Given the description of an element on the screen output the (x, y) to click on. 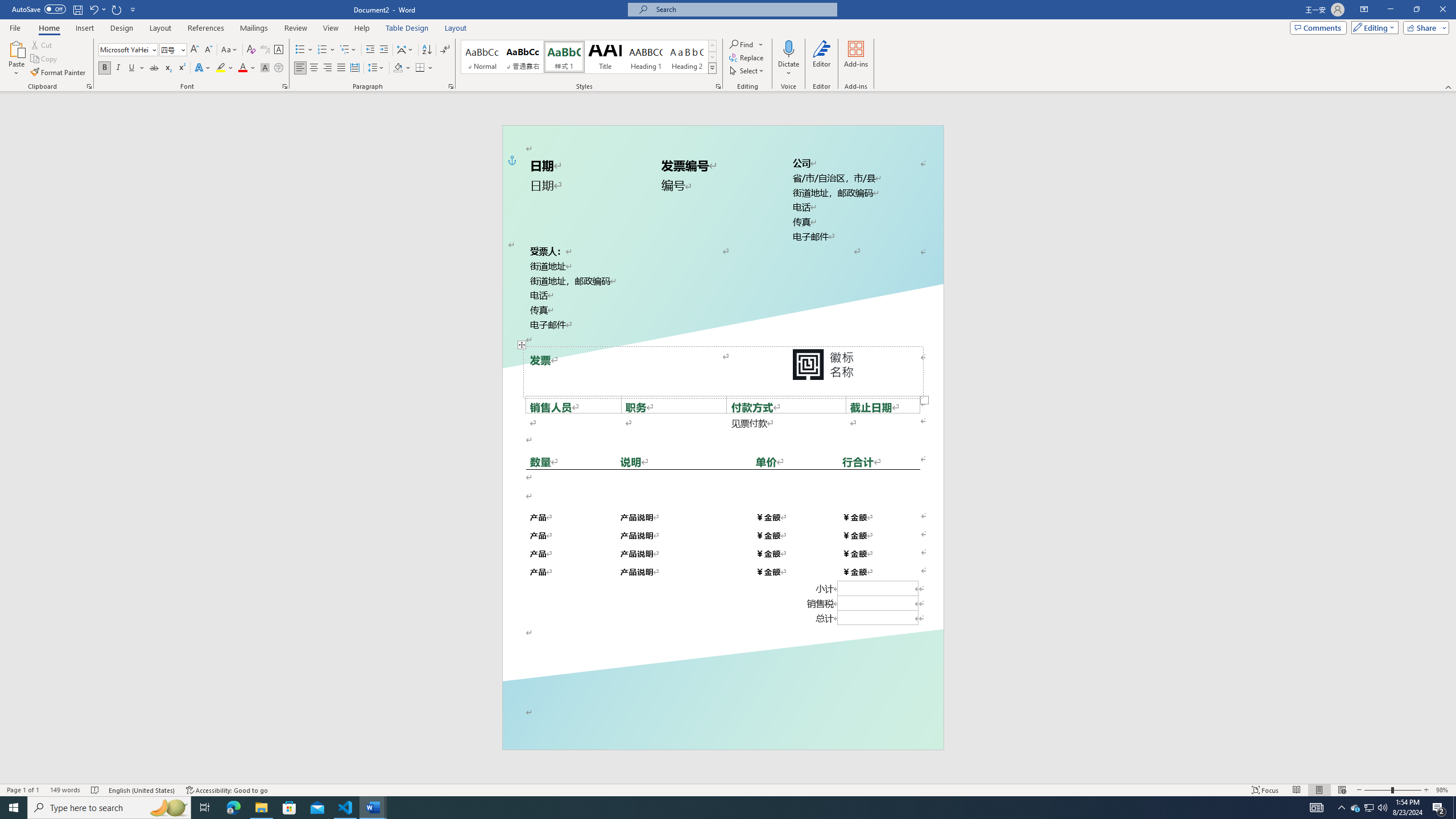
Page Number Page 1 of 1 (22, 790)
Spelling and Grammar Check No Errors (94, 790)
